Given the description of an element on the screen output the (x, y) to click on. 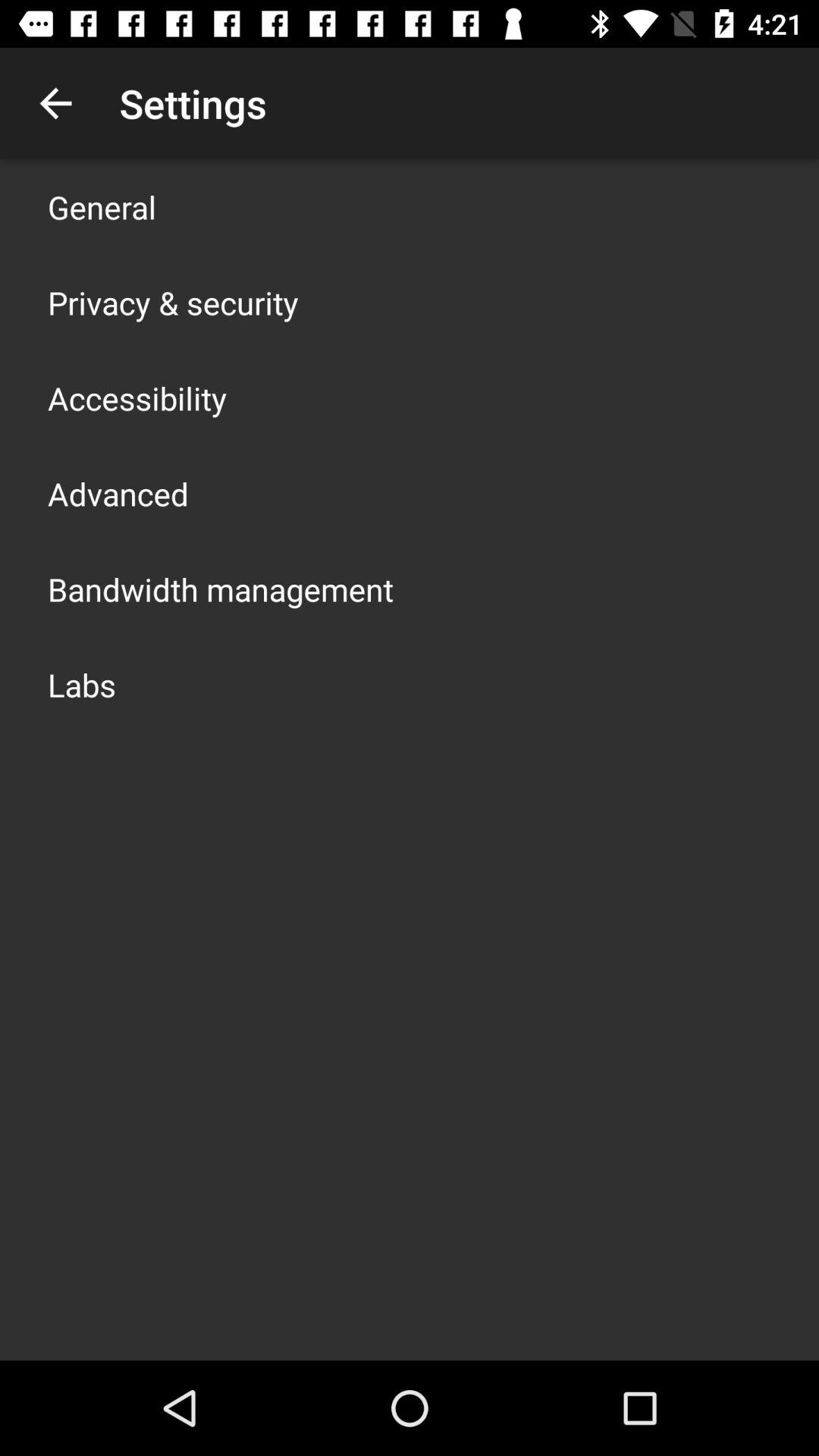
launch app above general icon (55, 103)
